Given the description of an element on the screen output the (x, y) to click on. 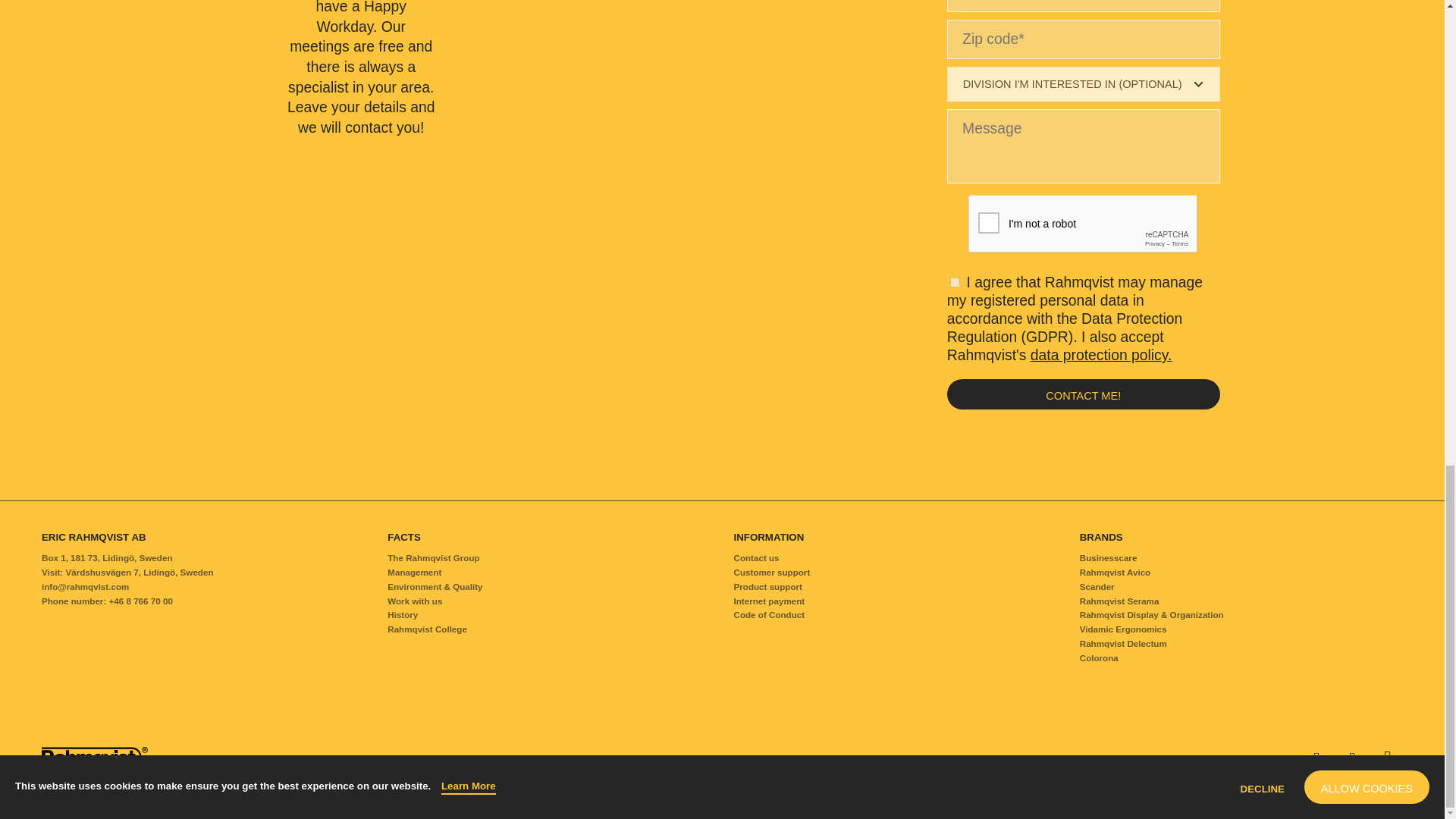
Rahmqvist Avico (1241, 572)
The Rahmqvist Group (433, 557)
Contact me! (1083, 394)
data protection policy. (1101, 354)
Scander (1241, 586)
Rahmqvist College (427, 628)
Work with us (414, 601)
Rahmqvist Serama (1241, 601)
History (402, 614)
reCAPTCHA (1083, 223)
Code of Conduct (769, 614)
Contact me! (1083, 394)
Product support (767, 586)
Internet payment (769, 601)
Contact us (755, 557)
